Given the description of an element on the screen output the (x, y) to click on. 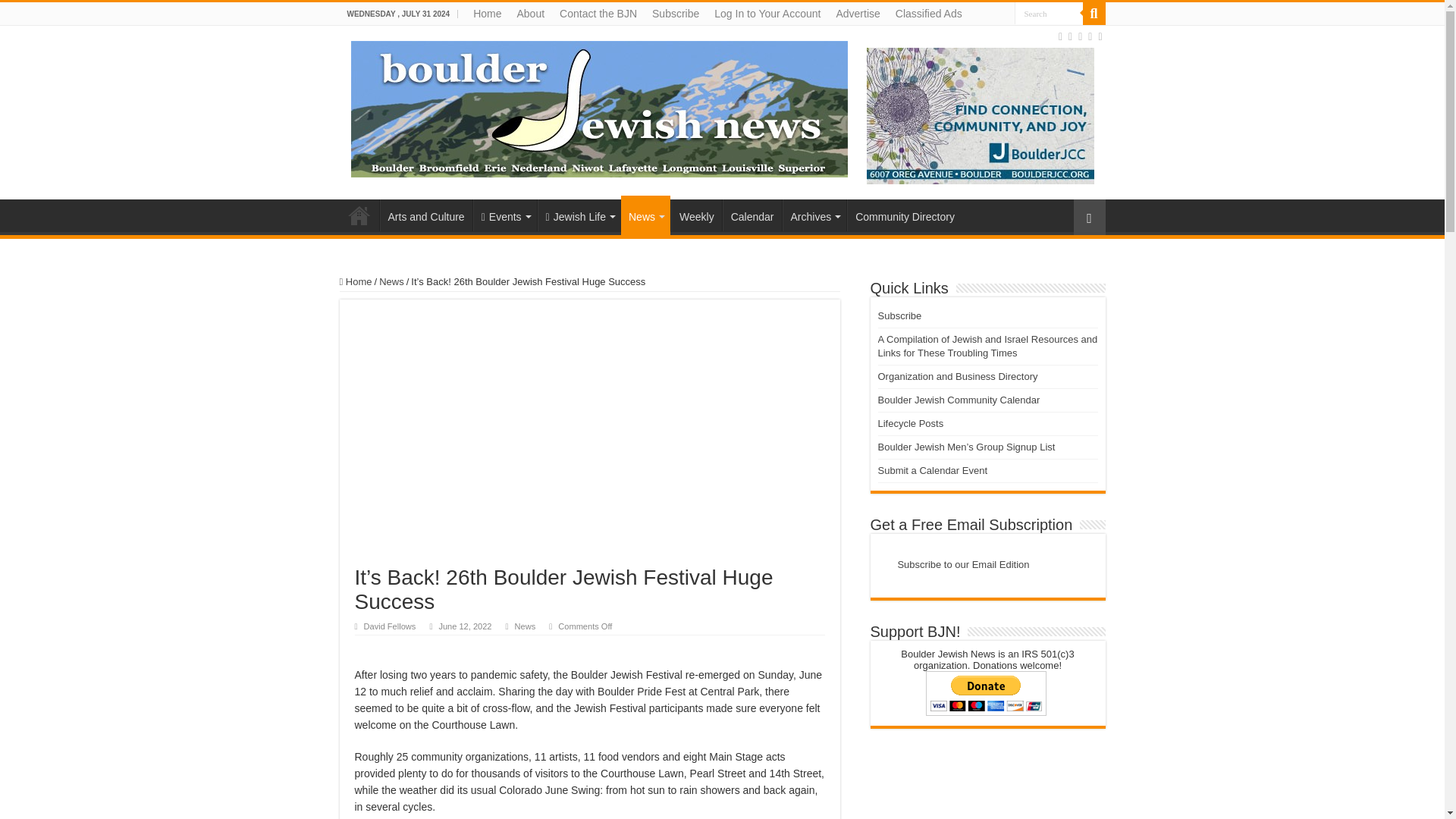
Arts and Culture (424, 214)
Log In to Your Account (767, 13)
Classified Ads (928, 13)
Home (486, 13)
Search (1048, 13)
Search (1048, 13)
Boulder Jewish News (598, 105)
About (531, 13)
Advertise (857, 13)
Home (358, 214)
Contact the BJN (598, 13)
Subscribe (675, 13)
Events (505, 214)
Search (1048, 13)
Jewish Life (579, 214)
